Given the description of an element on the screen output the (x, y) to click on. 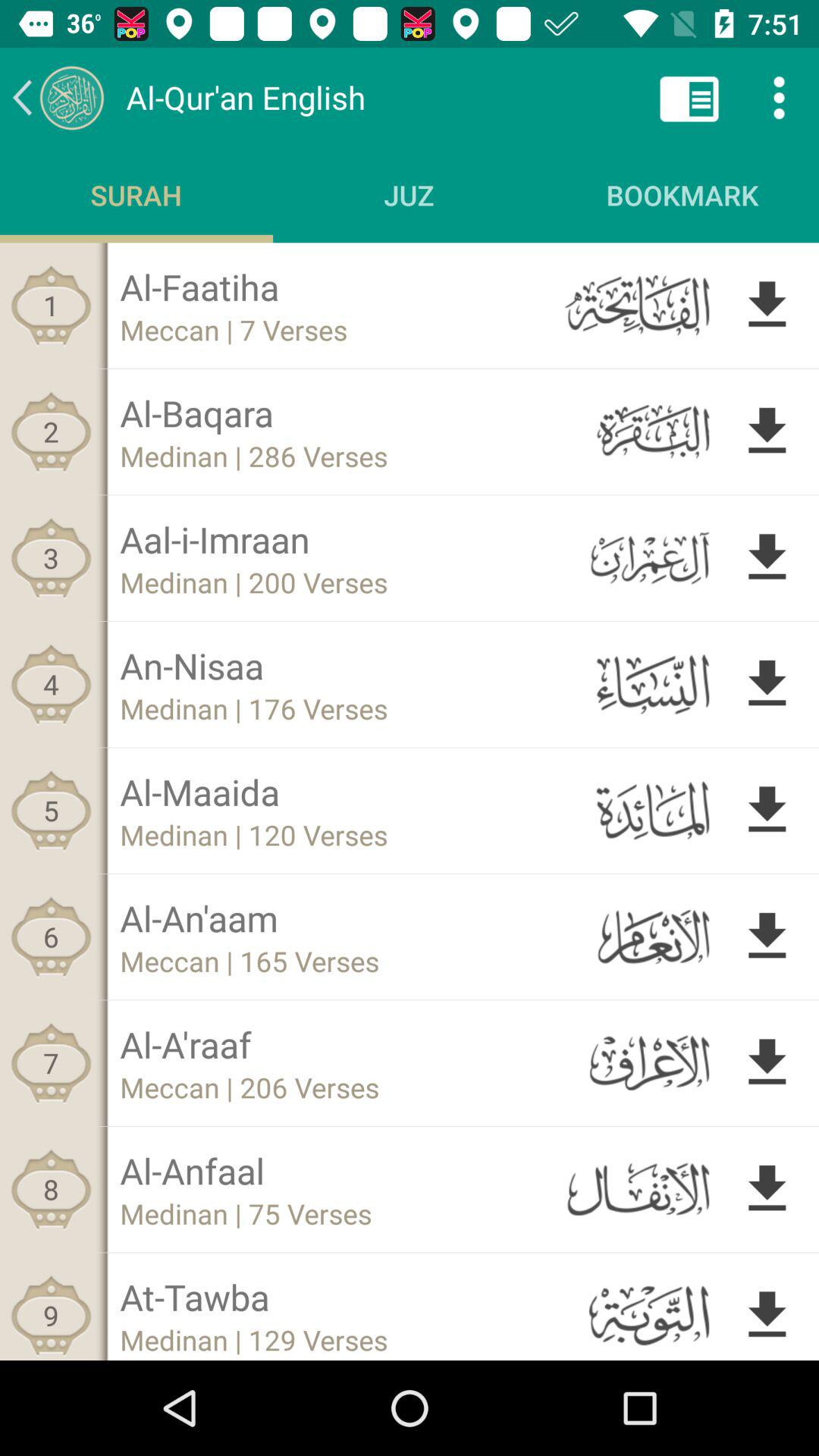
click the button to download (767, 936)
